Given the description of an element on the screen output the (x, y) to click on. 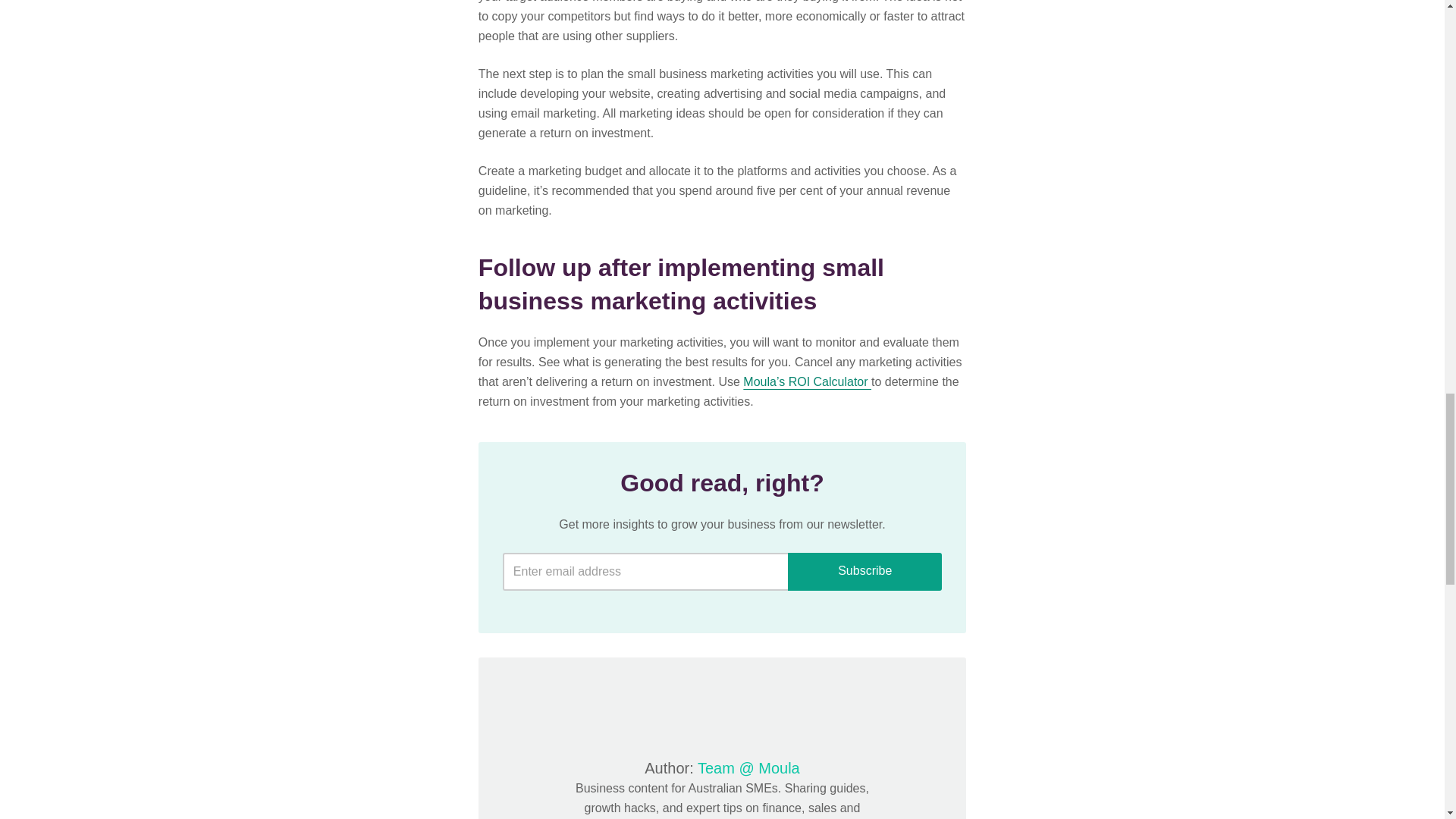
Subscribe (864, 571)
Visit Author Page (722, 707)
Visit Author Page (748, 768)
